Given the description of an element on the screen output the (x, y) to click on. 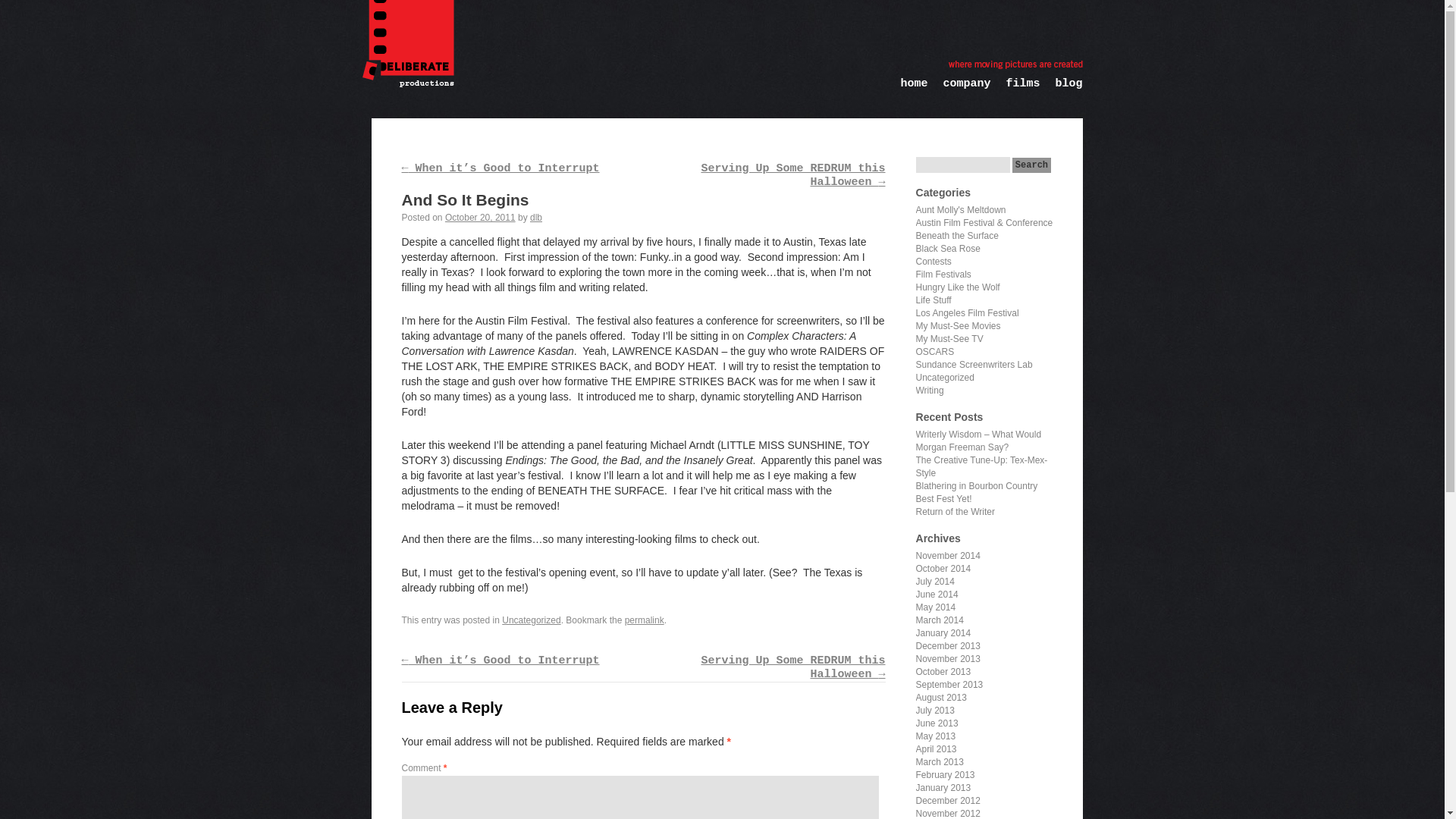
Los Angeles Film Festival (967, 312)
home (906, 91)
OSCARS (935, 351)
Contests (933, 261)
Uncategorized (531, 620)
Beneath the Surface (956, 235)
dlb (535, 217)
films (1014, 91)
Hungry Like the Wolf (957, 286)
My Must-See Movies (958, 326)
Life Stuff (933, 299)
My Must-See TV (949, 338)
company (958, 91)
blog (1060, 91)
9:22 am (480, 217)
